Given the description of an element on the screen output the (x, y) to click on. 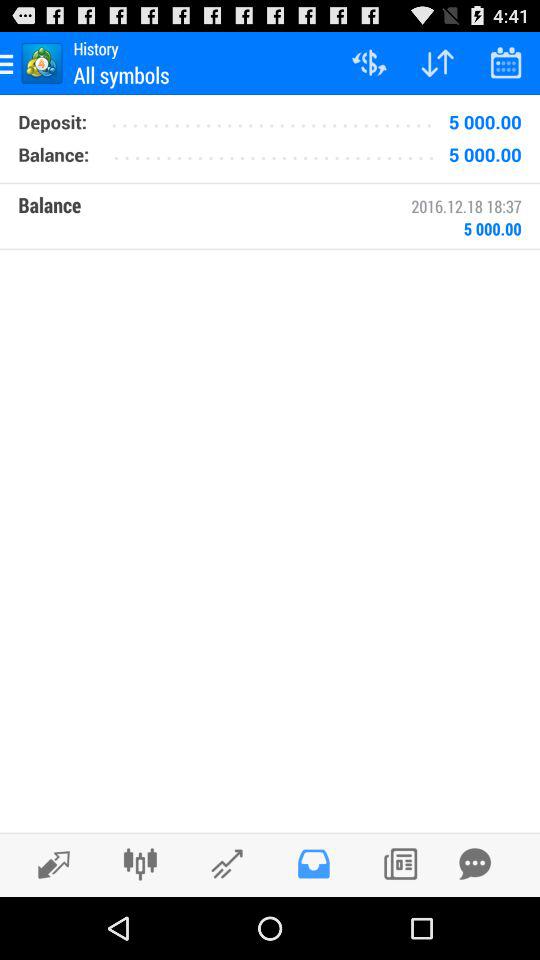
inbox (313, 863)
